Given the description of an element on the screen output the (x, y) to click on. 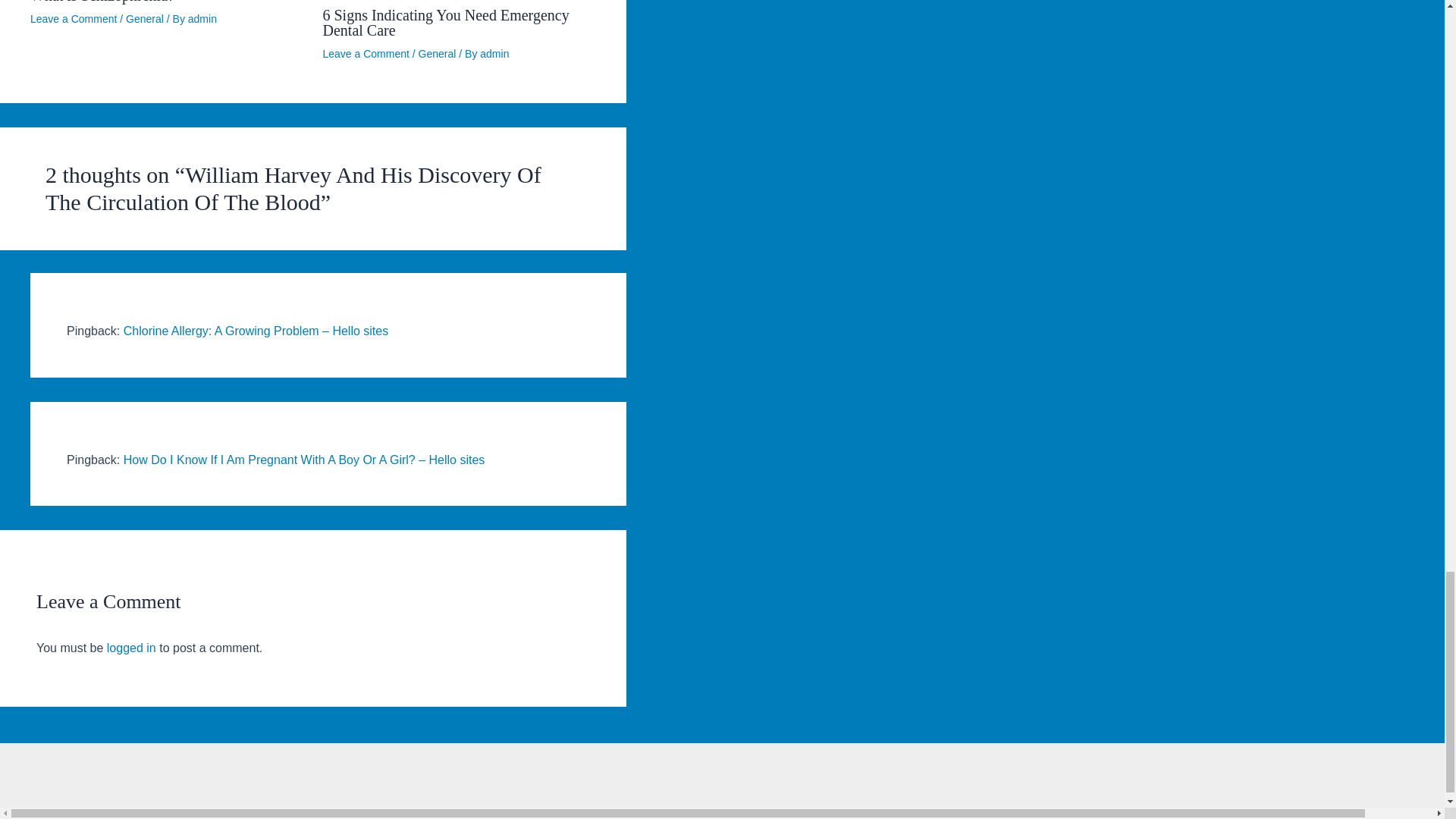
General (438, 53)
Leave a Comment (366, 53)
View all posts by admin (201, 19)
logged in (130, 647)
admin (201, 19)
Leave a Comment (73, 19)
What is Schizophrenia? (102, 2)
General (144, 19)
6 Signs Indicating You Need Emergency Dental Care (446, 22)
View all posts by admin (494, 53)
admin (494, 53)
